Given the description of an element on the screen output the (x, y) to click on. 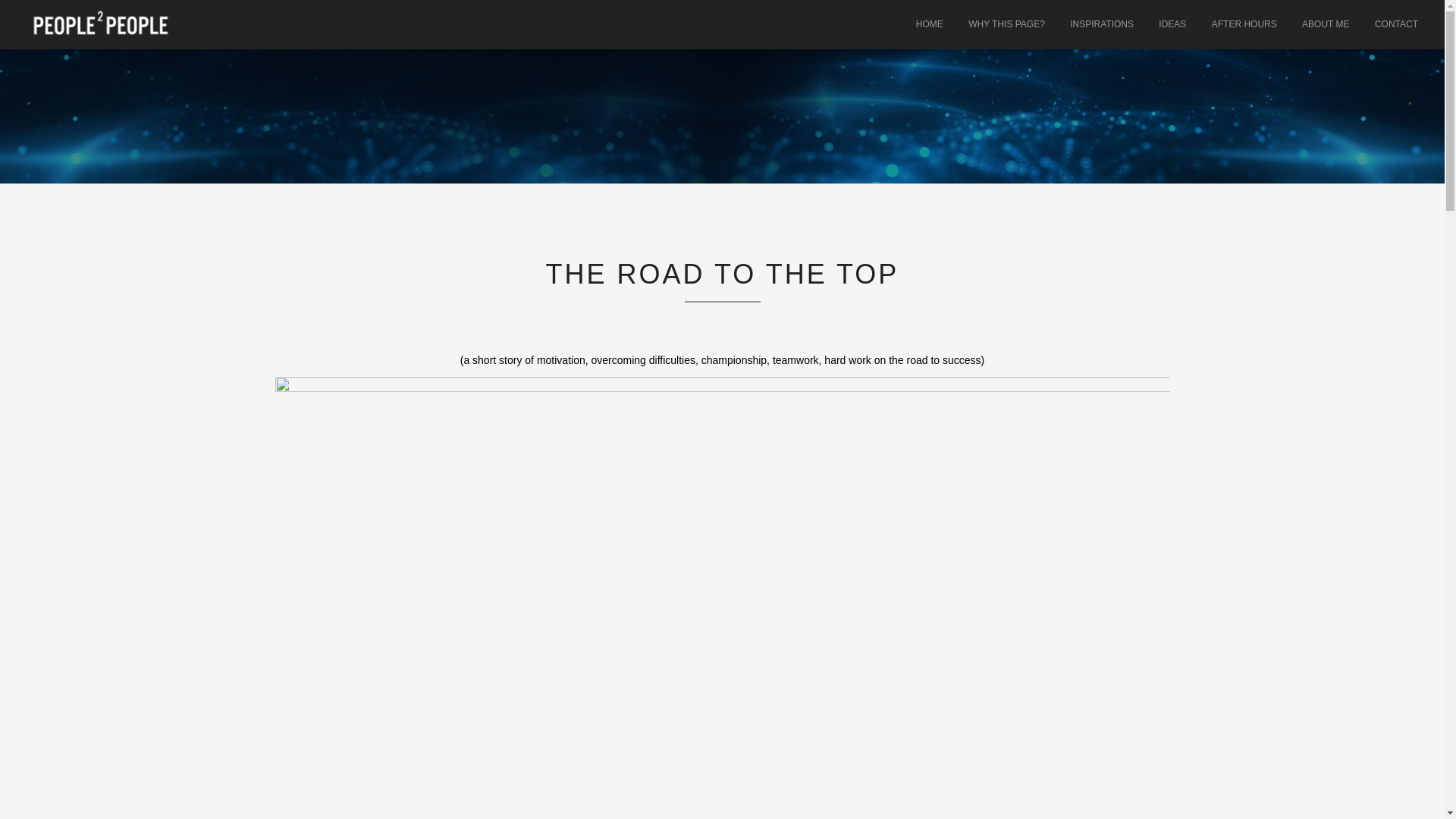
CONTACT (1395, 24)
Inspirations (1101, 24)
HOME (929, 24)
WHY THIS PAGE? (1006, 24)
INSPIRATIONS (1101, 24)
IDEAS (1171, 24)
ABOUT ME (1324, 24)
AFTER HOURS (1243, 24)
